Given the description of an element on the screen output the (x, y) to click on. 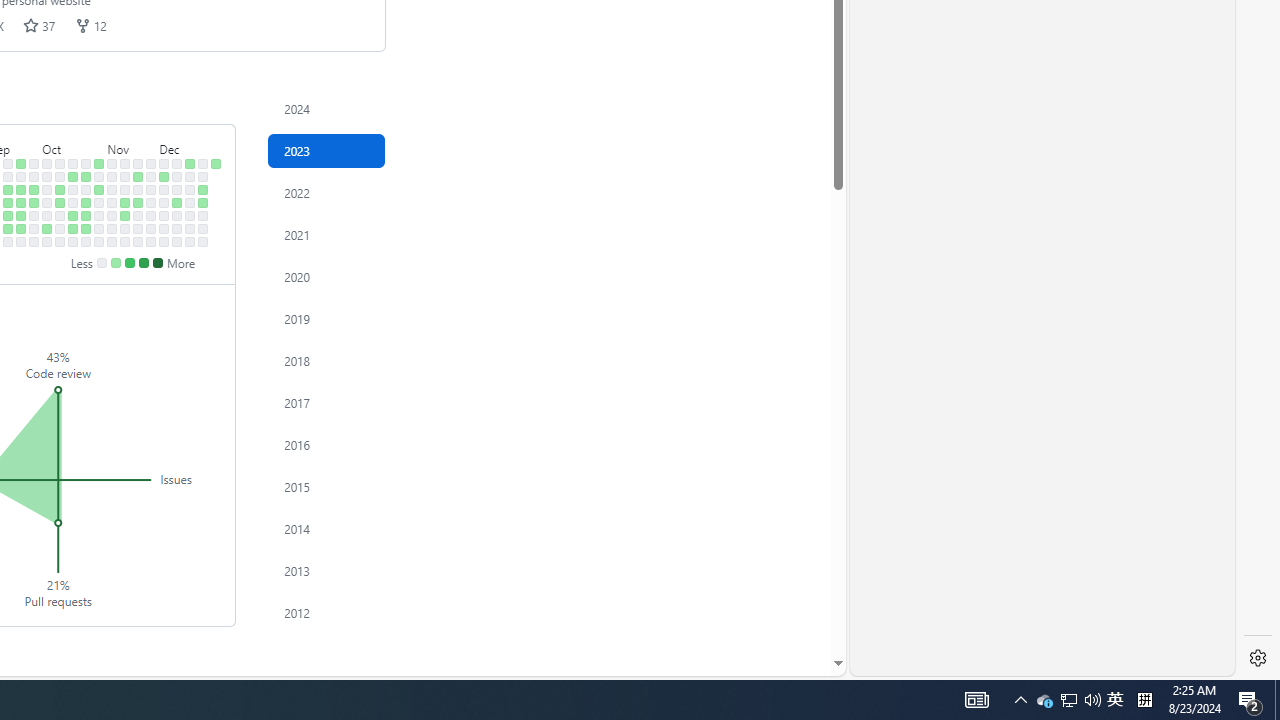
No contributions on November 1st. (98, 202)
October (73, 145)
No contributions on September 28th. (34, 215)
No contributions on October 1st. (47, 163)
No contributions on December 30th. (203, 241)
Contribution activity in 2018 (326, 360)
2 contributions on December 26th. (203, 189)
2 contributions on September 22nd. (20, 228)
No contributions on November 28th. (151, 189)
Contribution activity in 2020 (326, 276)
No contributions on November 21st. (138, 189)
No contributions on October 8th. (60, 163)
1 contribution on October 19th. (73, 215)
Contribution activity in 2012 (326, 612)
2024 (326, 107)
